Given the description of an element on the screen output the (x, y) to click on. 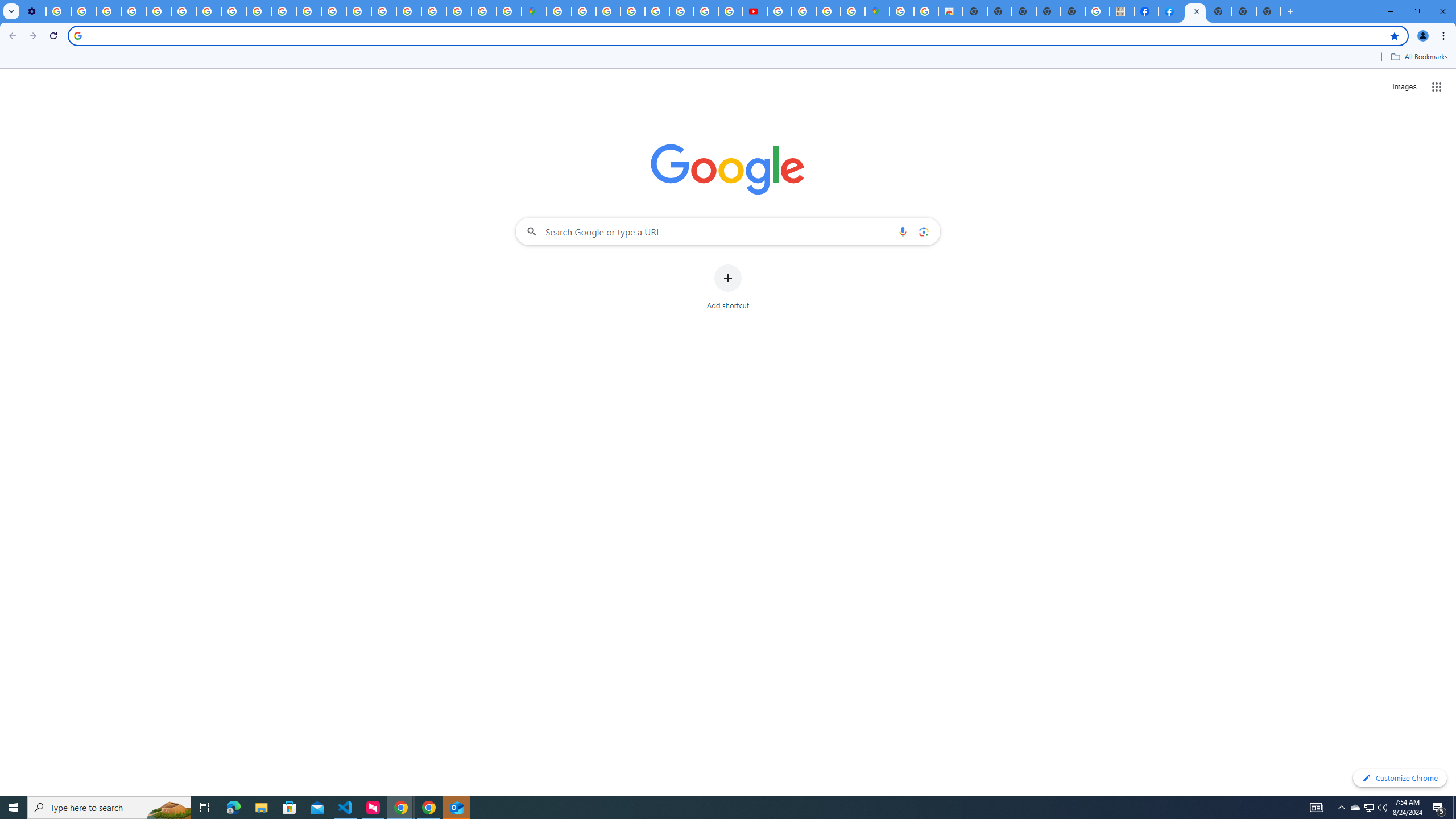
Sign in - Google Accounts (558, 11)
Privacy Help Center - Policies Help (332, 11)
Google Account Help (133, 11)
Google Maps (533, 11)
Chrome Web Store - Shopping (950, 11)
Customize Chrome (1399, 778)
Sign Up for Facebook (1170, 11)
